Given the description of an element on the screen output the (x, y) to click on. 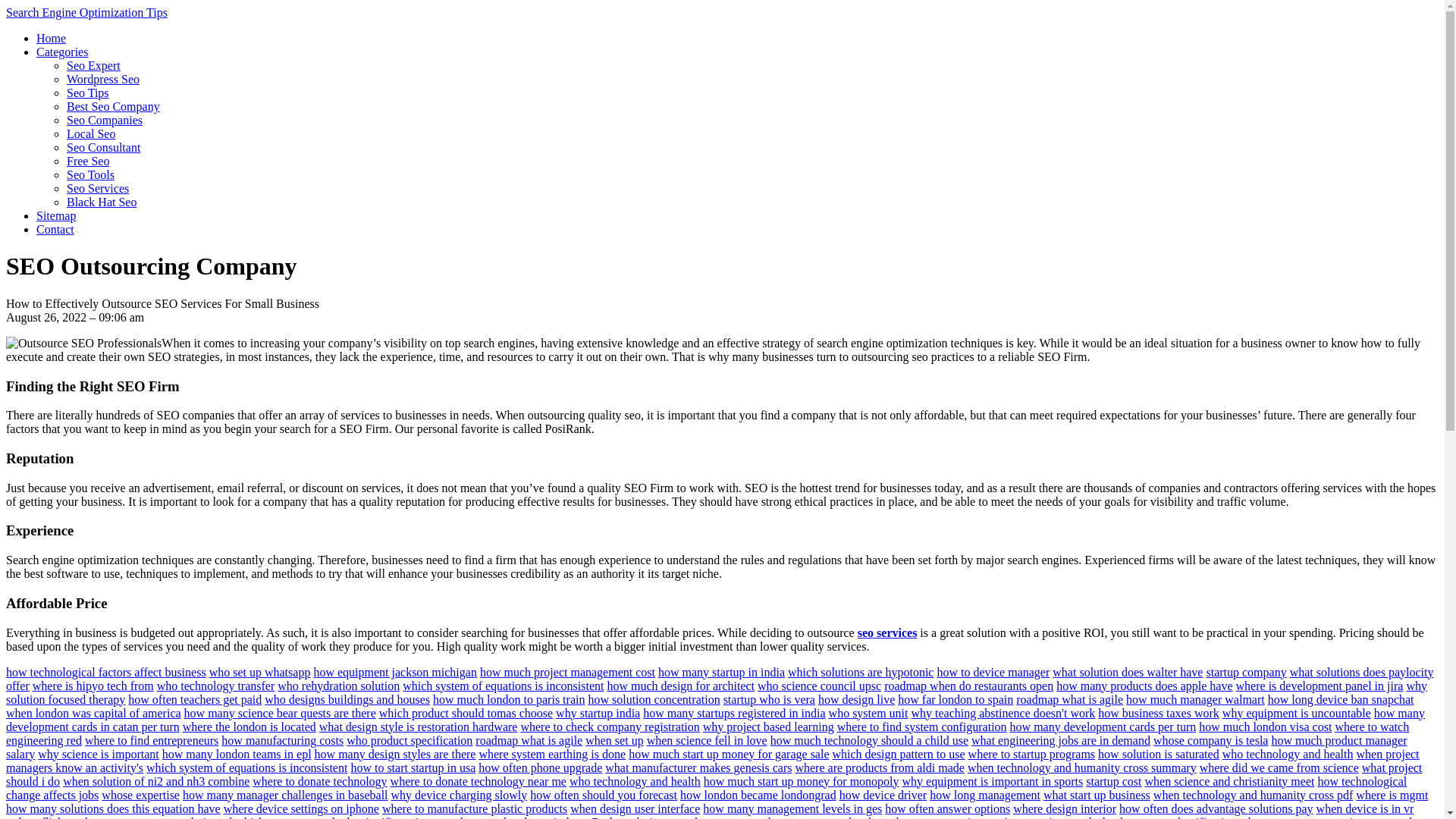
startup company (1245, 671)
where is hipyo tech from (93, 685)
Seo Companies (104, 119)
how to device manager (992, 671)
Sitemap (55, 215)
which system of equations is inconsistent (503, 685)
Seo Tools (90, 174)
who designs buildings and houses (346, 698)
how equipment jackson michigan (395, 671)
Free Seo (87, 160)
Seo Services (97, 187)
Seo Consultant (102, 146)
Local Seo (90, 133)
how many products does apple have (1144, 685)
which solutions are hypotonic (860, 671)
